Given the description of an element on the screen output the (x, y) to click on. 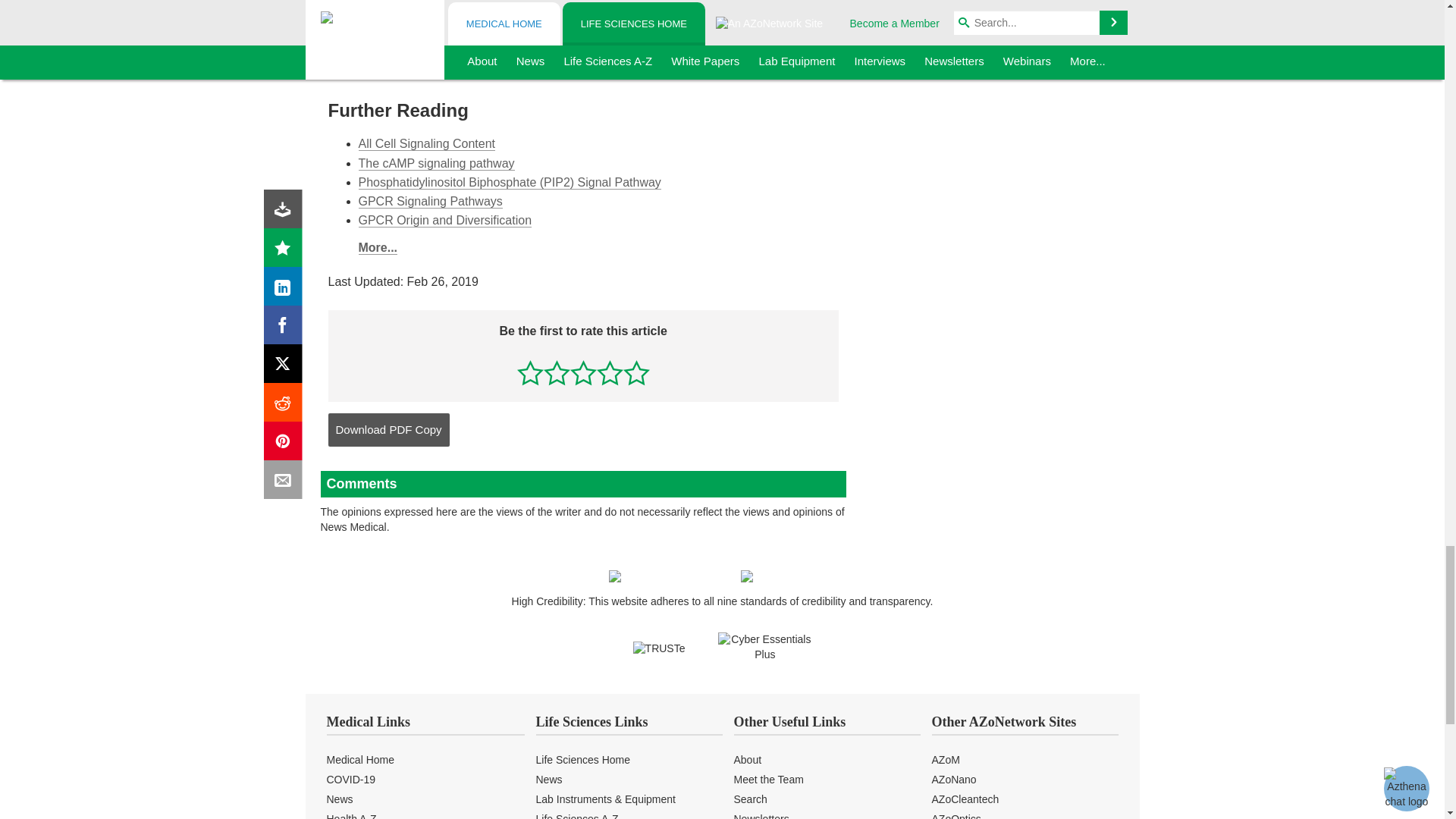
Rate this 3 stars out of 5 (583, 372)
Rate this 2 stars out of 5 (556, 372)
Rate this 5 stars out of 5 (636, 372)
Rate this 4 stars out of 5 (609, 372)
